Given the description of an element on the screen output the (x, y) to click on. 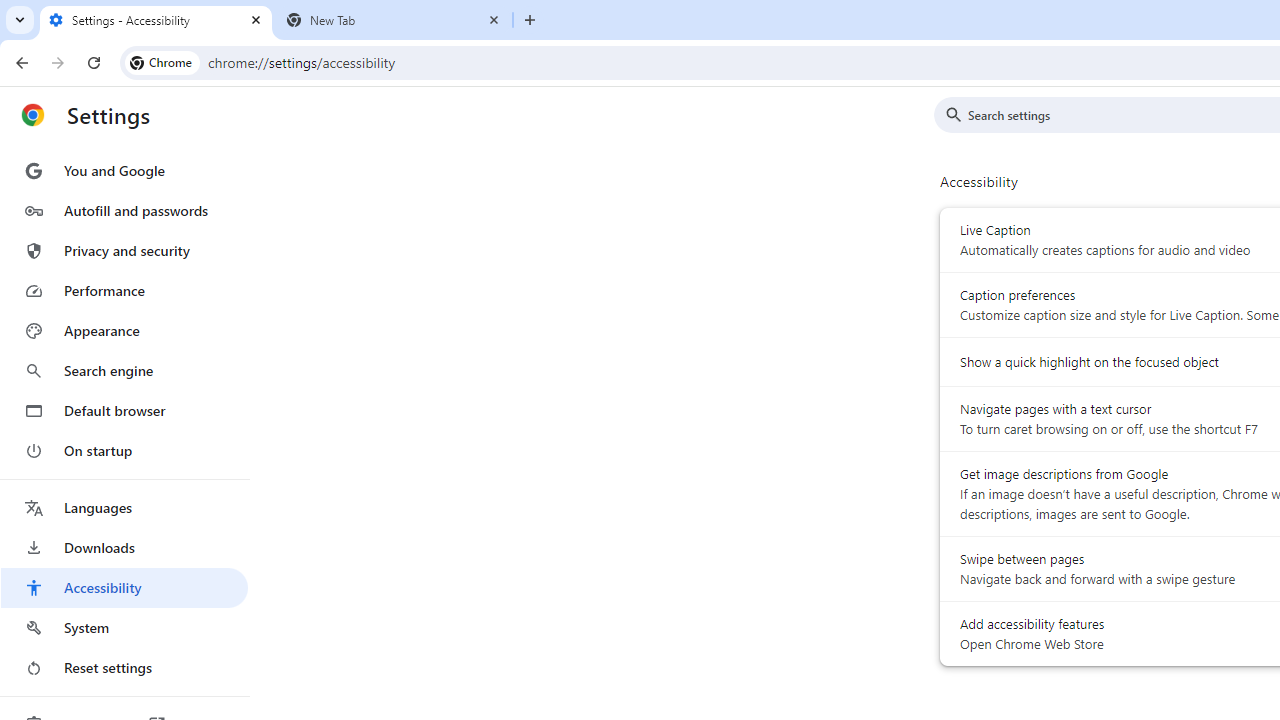
Reset settings (124, 668)
Downloads (124, 547)
Search engine (124, 370)
On startup (124, 450)
You and Google (124, 170)
New Tab (394, 20)
